Given the description of an element on the screen output the (x, y) to click on. 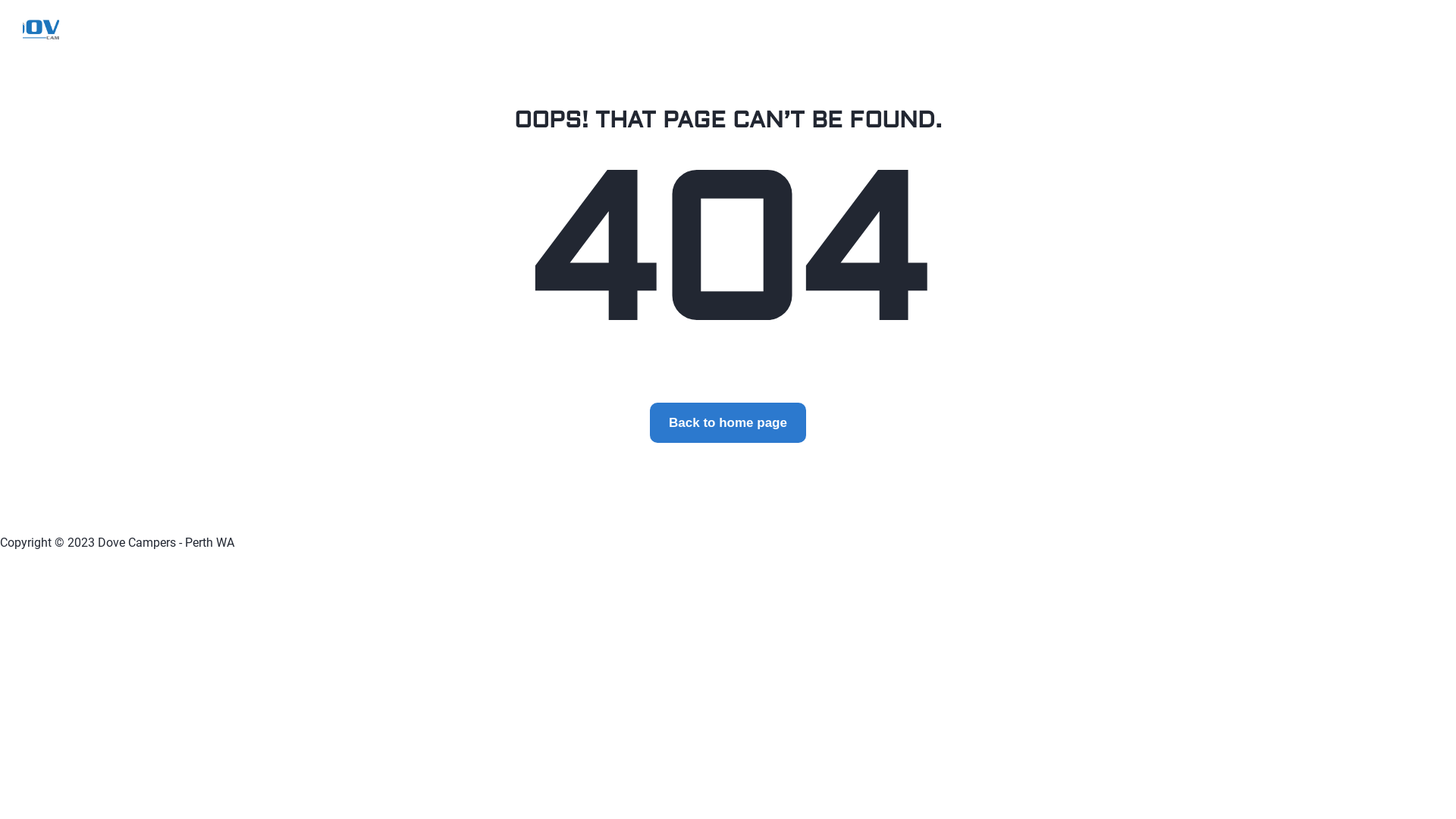
Dove Campers - Perth WA Element type: hover (40, 26)
Back to home page Element type: text (727, 422)
